Given the description of an element on the screen output the (x, y) to click on. 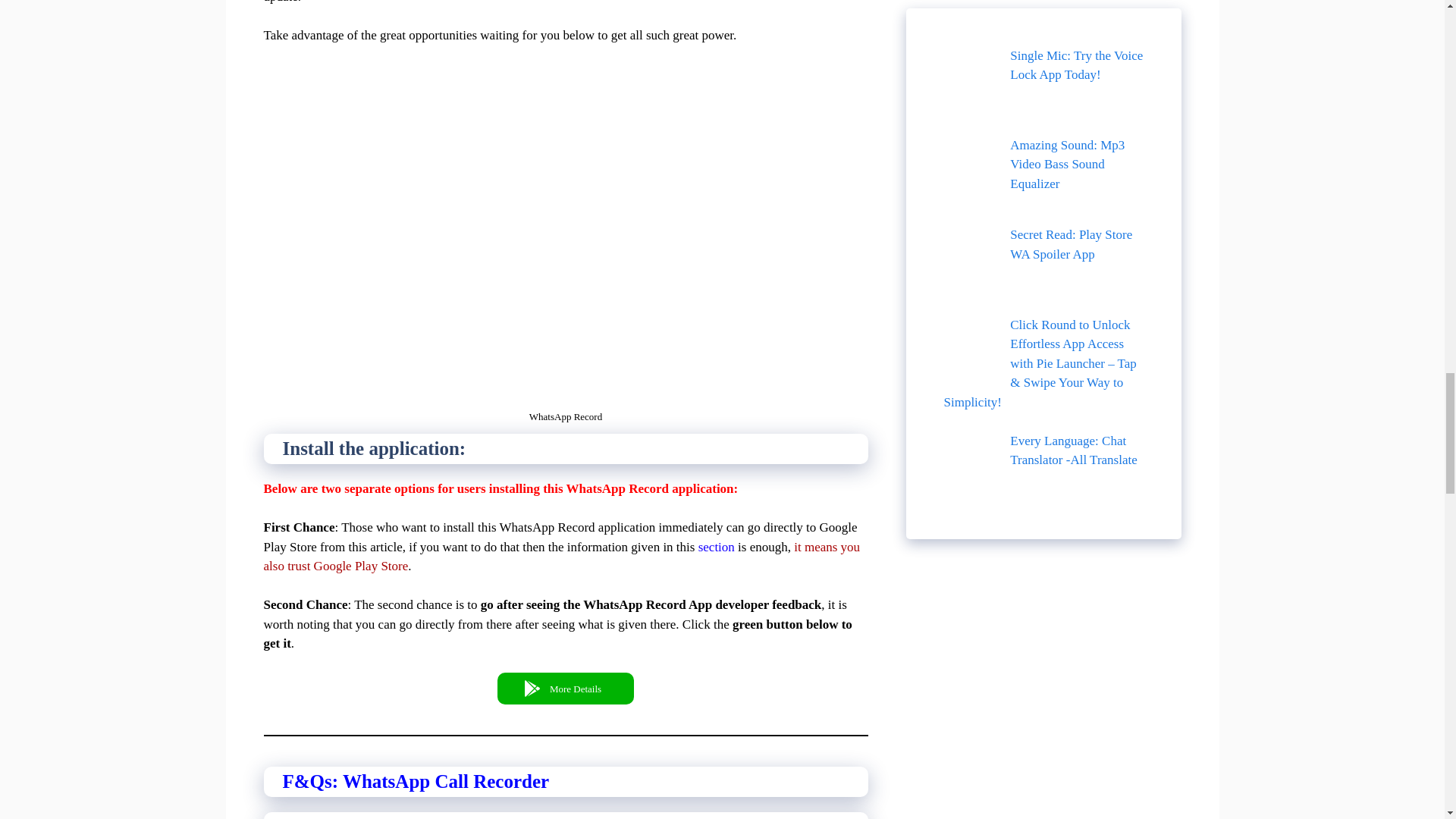
More Details (565, 688)
section (716, 546)
